Given the description of an element on the screen output the (x, y) to click on. 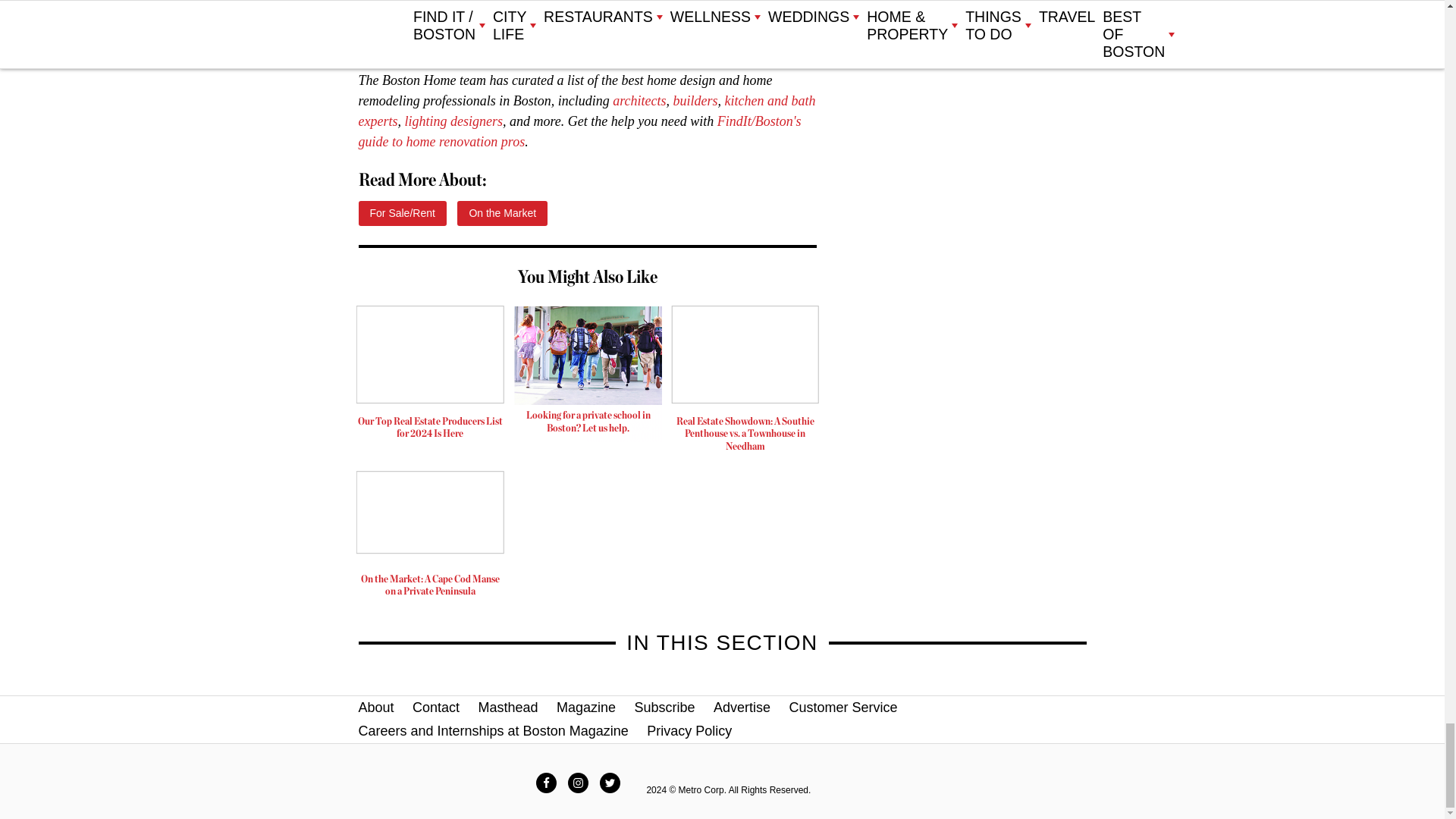
3rd party ad content (587, 373)
